Given the description of an element on the screen output the (x, y) to click on. 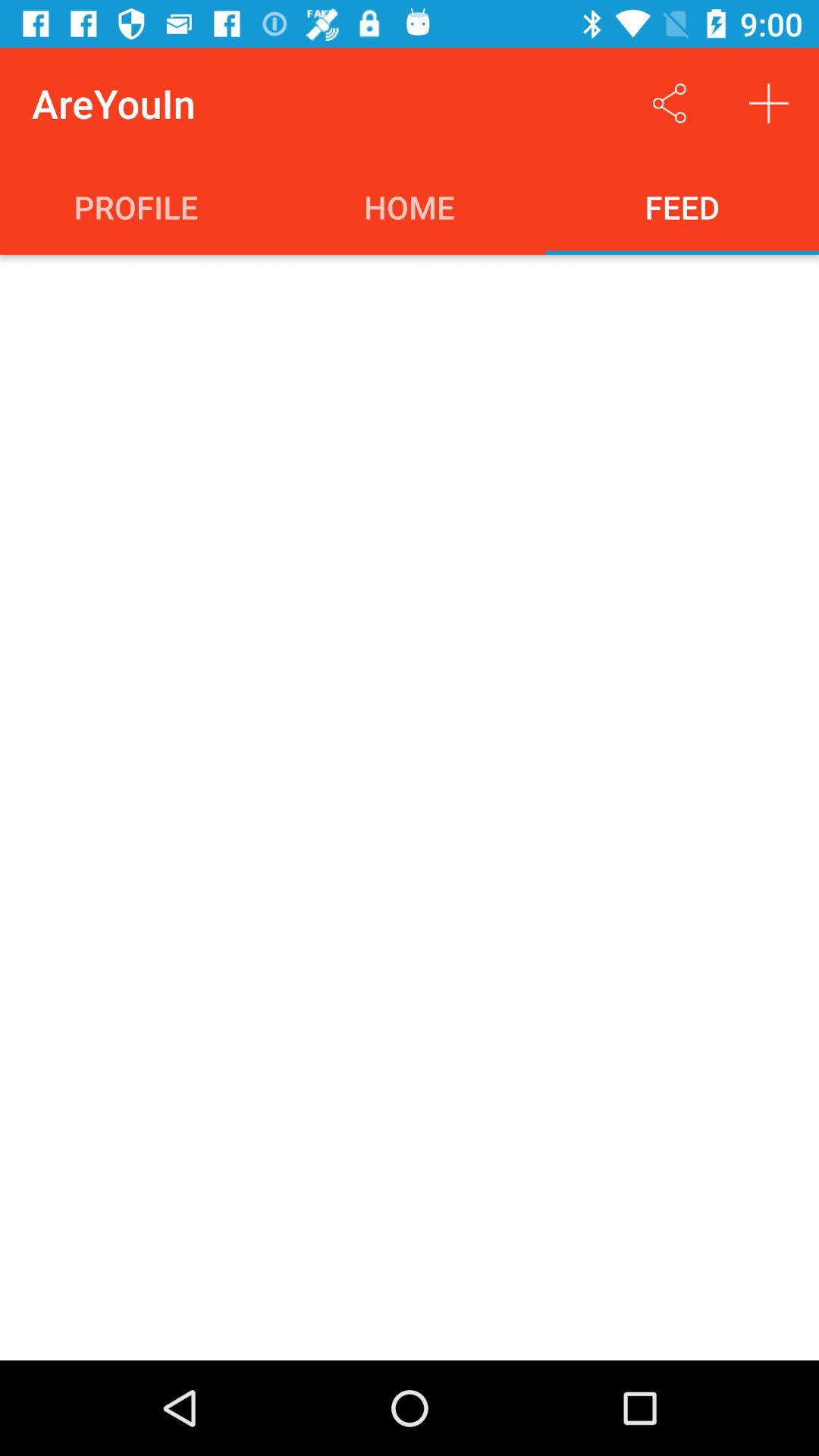
add new item (769, 103)
